Given the description of an element on the screen output the (x, y) to click on. 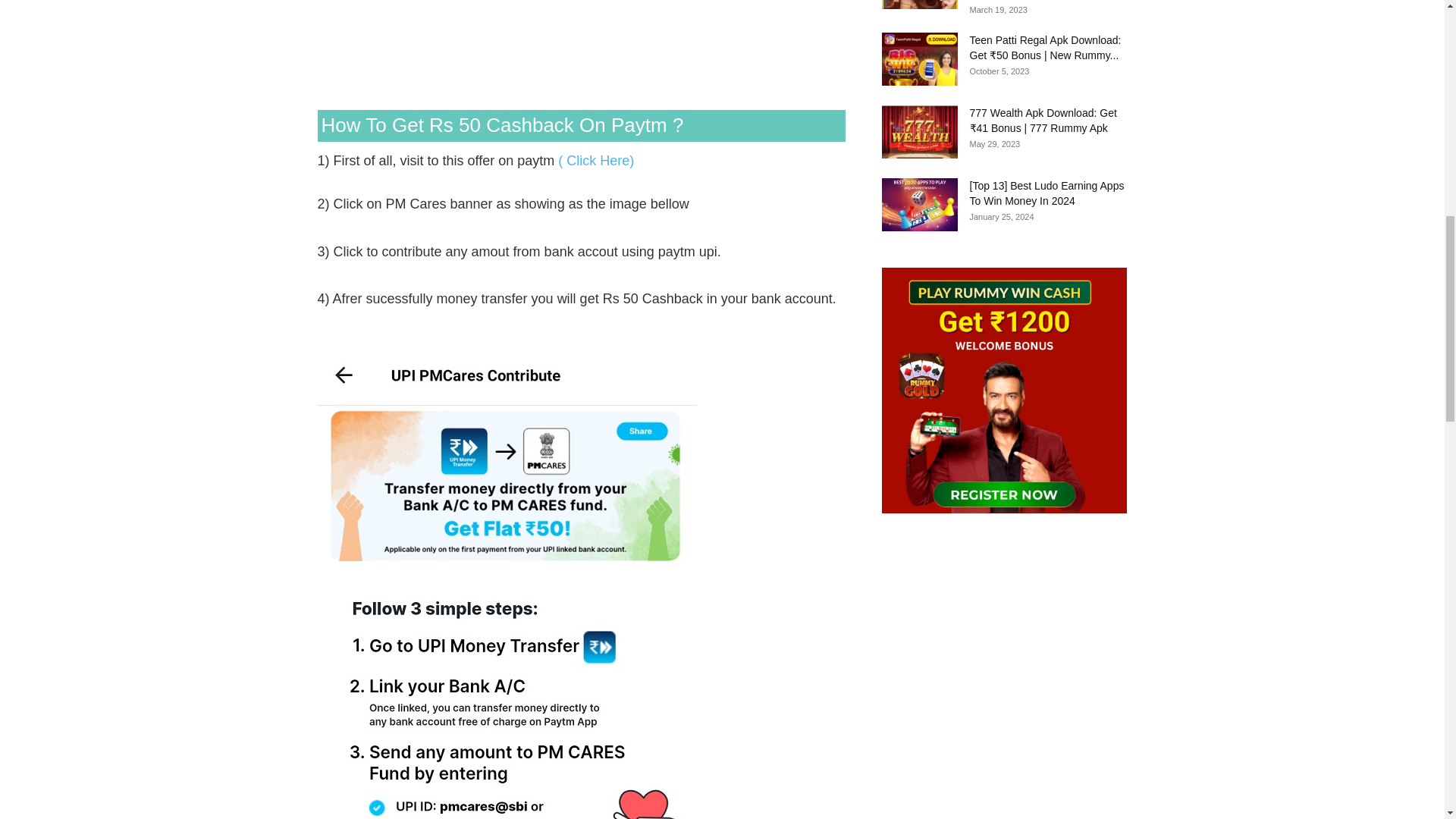
Advertisement (580, 52)
